Given the description of an element on the screen output the (x, y) to click on. 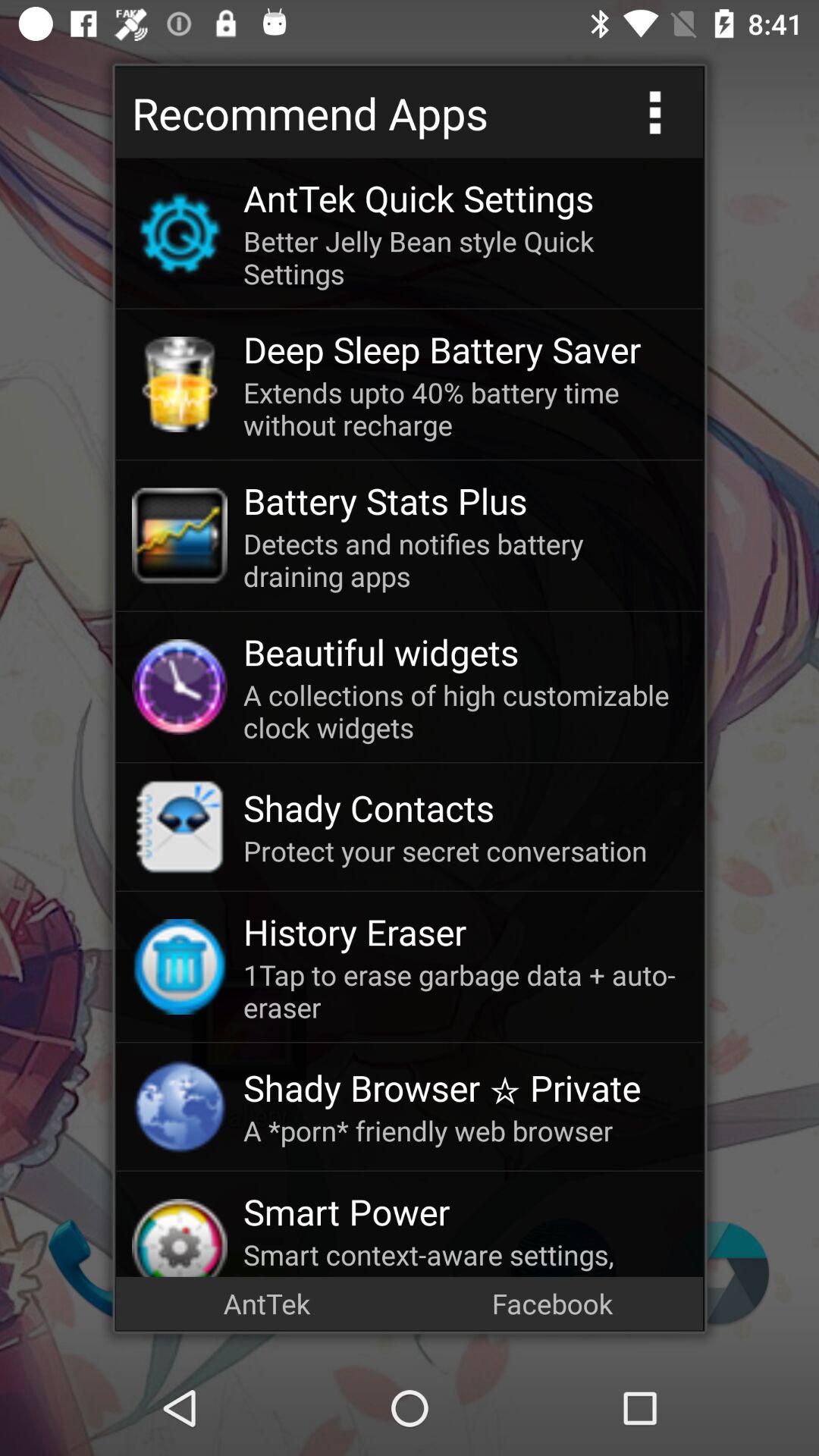
launch smart context aware icon (465, 1255)
